Given the description of an element on the screen output the (x, y) to click on. 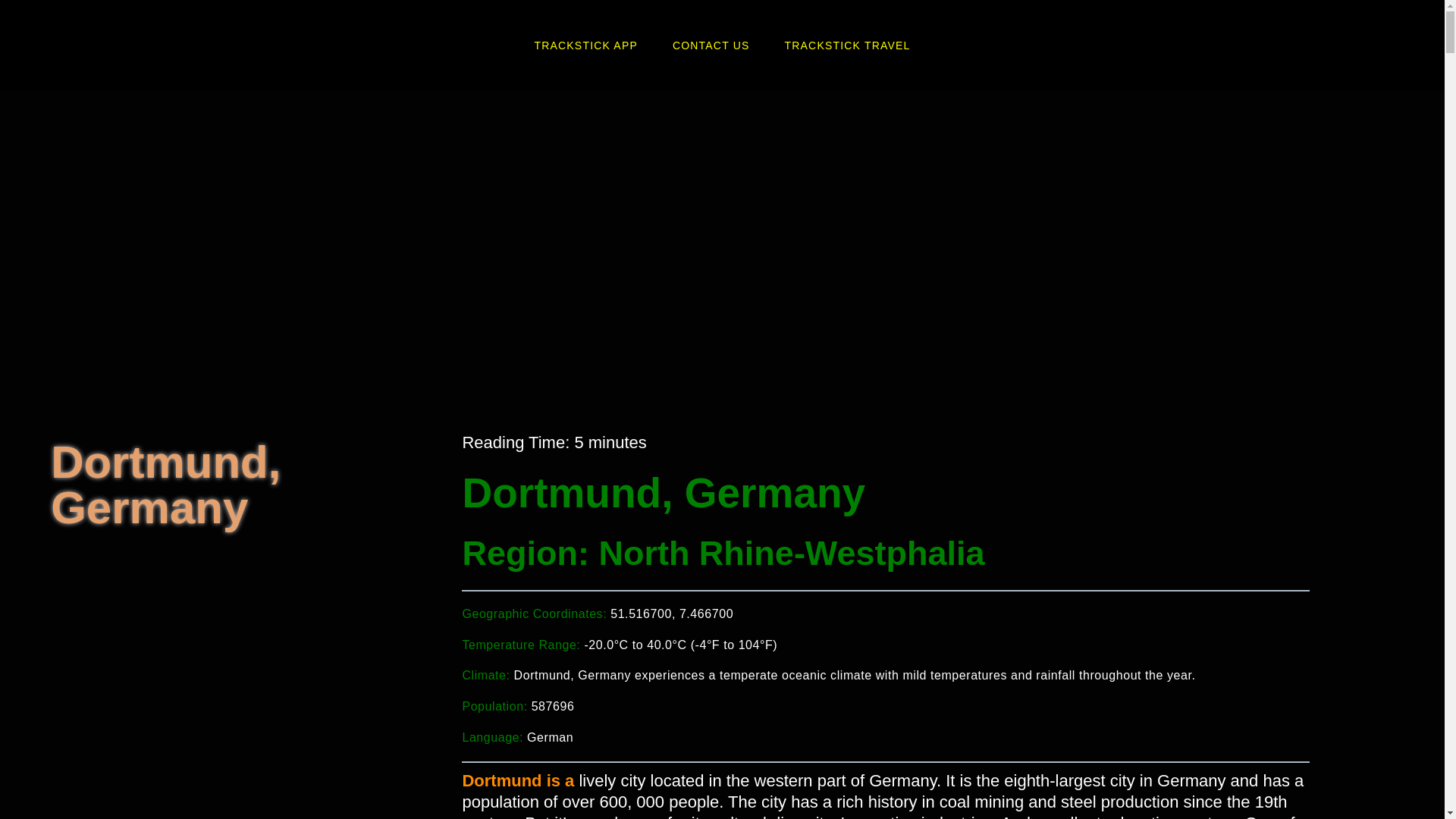
TRACKSTICK TRAVEL (847, 45)
TRACKSTICK APP (584, 45)
CONTACT US (711, 45)
